Given the description of an element on the screen output the (x, y) to click on. 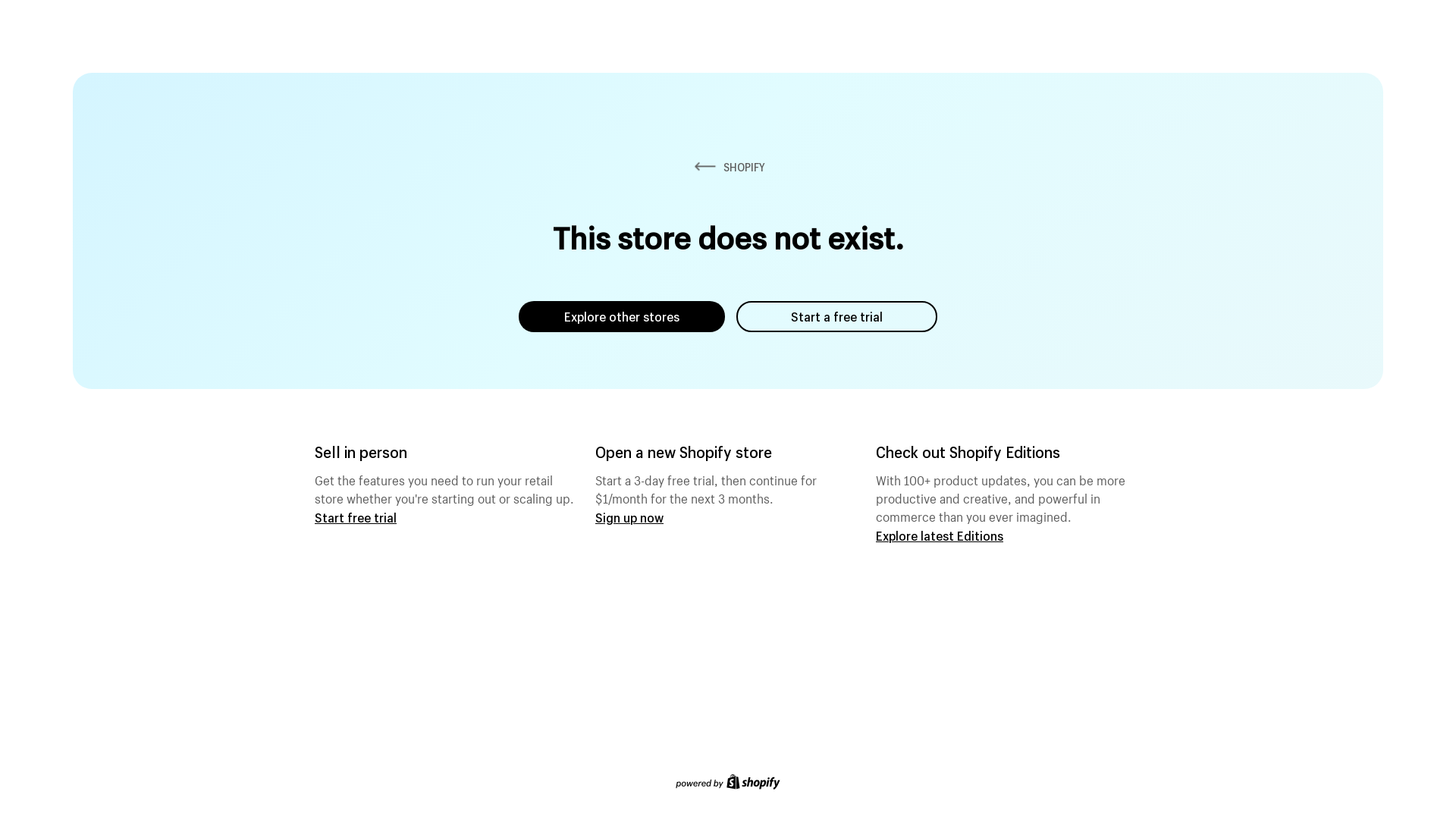
Start free trial Element type: text (355, 517)
SHOPIFY Element type: text (727, 167)
Start a free trial Element type: text (836, 316)
Sign up now Element type: text (629, 517)
Explore other stores Element type: text (621, 316)
Explore latest Editions Element type: text (939, 535)
